Given the description of an element on the screen output the (x, y) to click on. 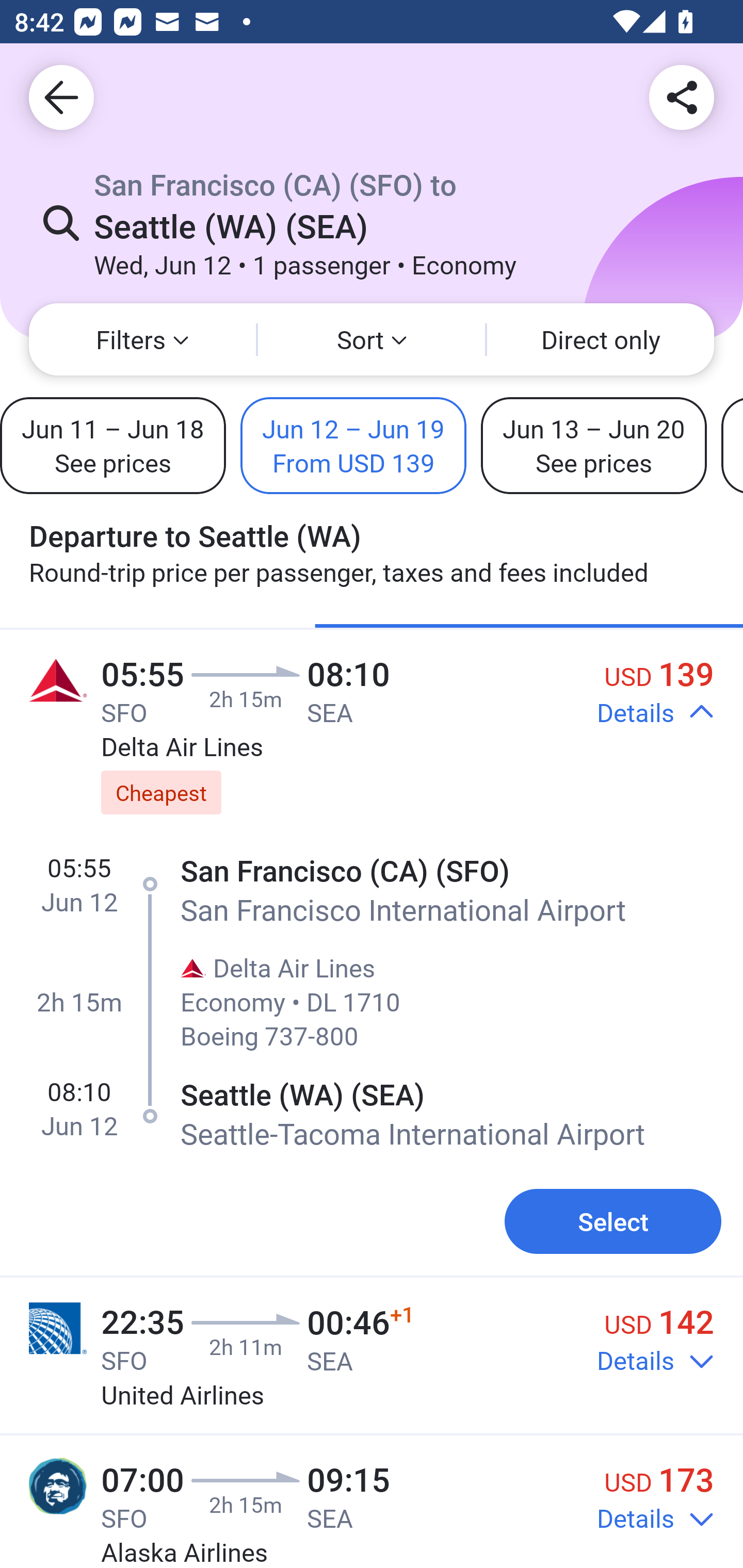
Filters (141, 339)
Sort (371, 339)
Direct only (600, 339)
Jun 11 – Jun 18 See prices (112, 444)
Jun 12 – Jun 19 From USD 139 (353, 444)
Jun 13 – Jun 20 See prices (593, 444)
Select (612, 1221)
